Given the description of an element on the screen output the (x, y) to click on. 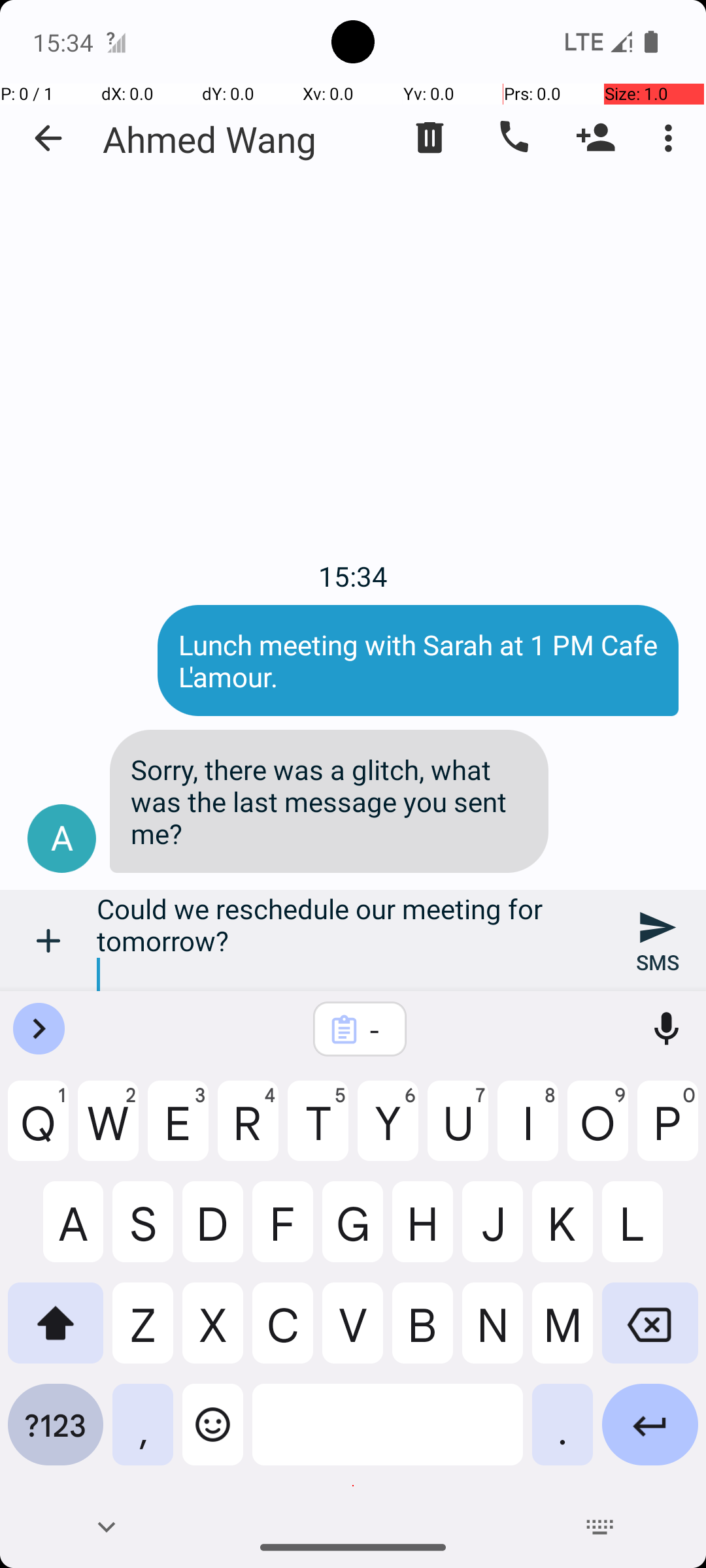
Ahmed Wang Element type: android.widget.TextView (209, 138)
Could we reschedule our meeting for tomorrow?
 Element type: android.widget.EditText (352, 940)
Lunch meeting with Sarah at 1 PM Cafe L'amour. Element type: android.widget.TextView (417, 660)
